Given the description of an element on the screen output the (x, y) to click on. 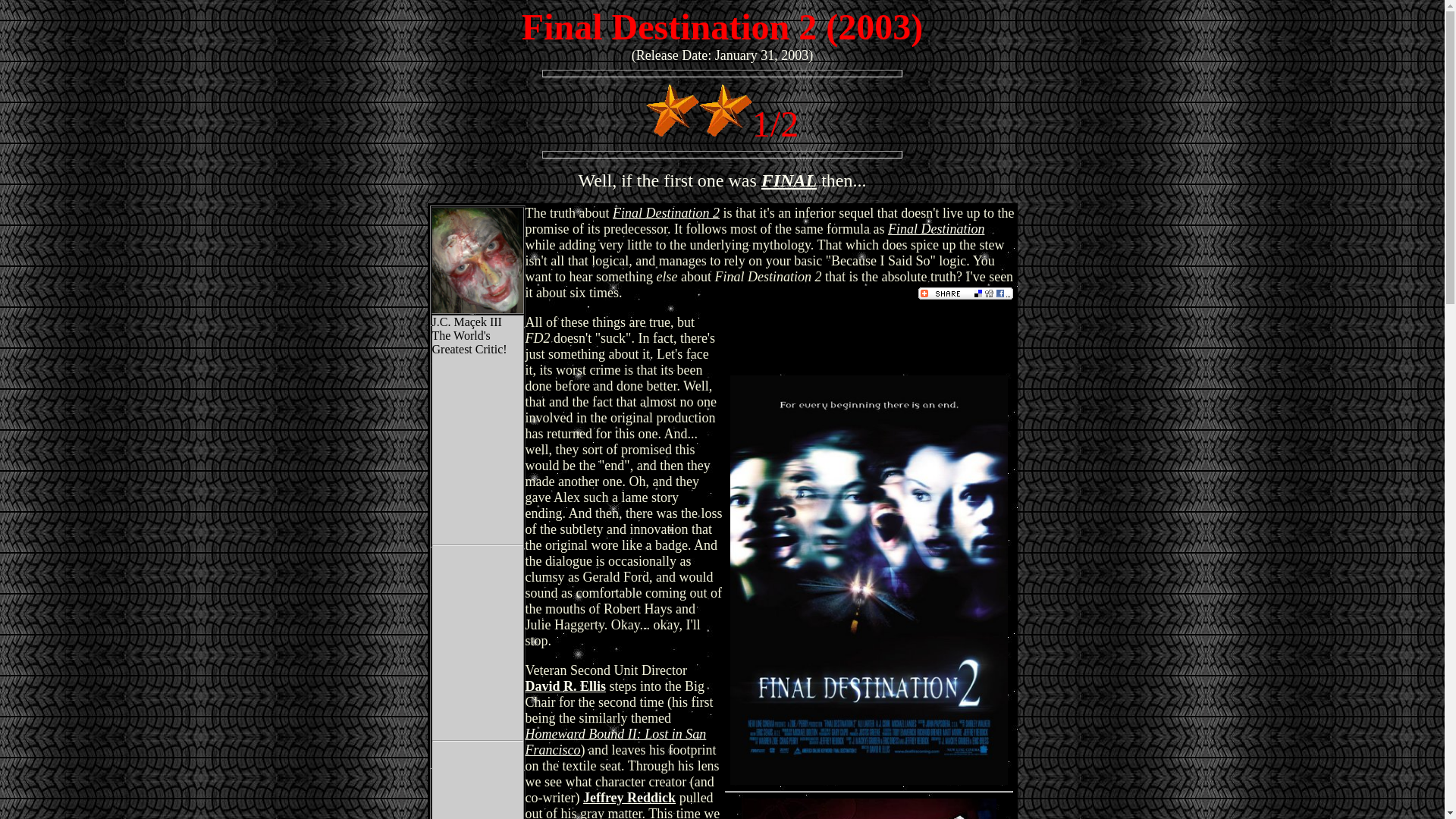
Final Destination 2 (665, 212)
Final Destination (936, 228)
David R. Ellis (564, 685)
Jeffrey Reddick (629, 797)
Homeward Bound II: Lost in San Francisco (615, 741)
Advertisement (868, 808)
